Given the description of an element on the screen output the (x, y) to click on. 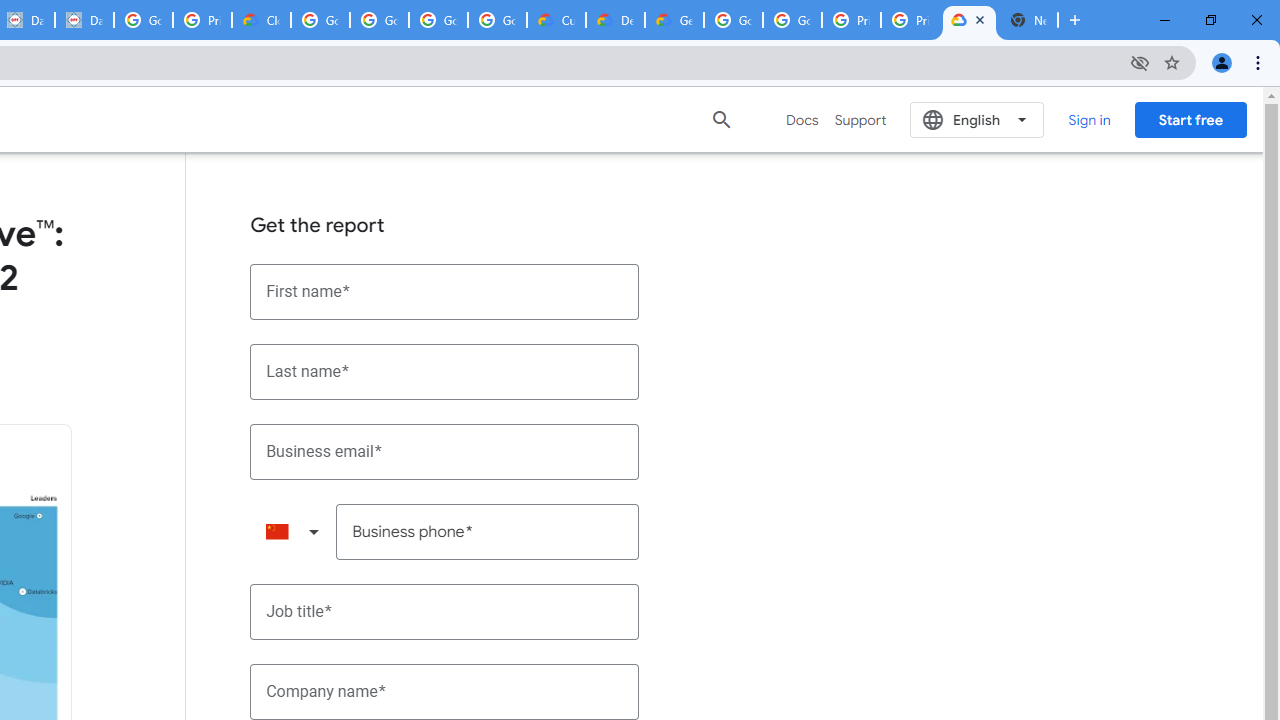
Cloud Data Processing Addendum | Google Cloud (260, 20)
Google Cloud Platform (791, 20)
Calling Code (+86) (292, 531)
Company name* (445, 691)
Support (860, 119)
First name* (445, 291)
